Given the description of an element on the screen output the (x, y) to click on. 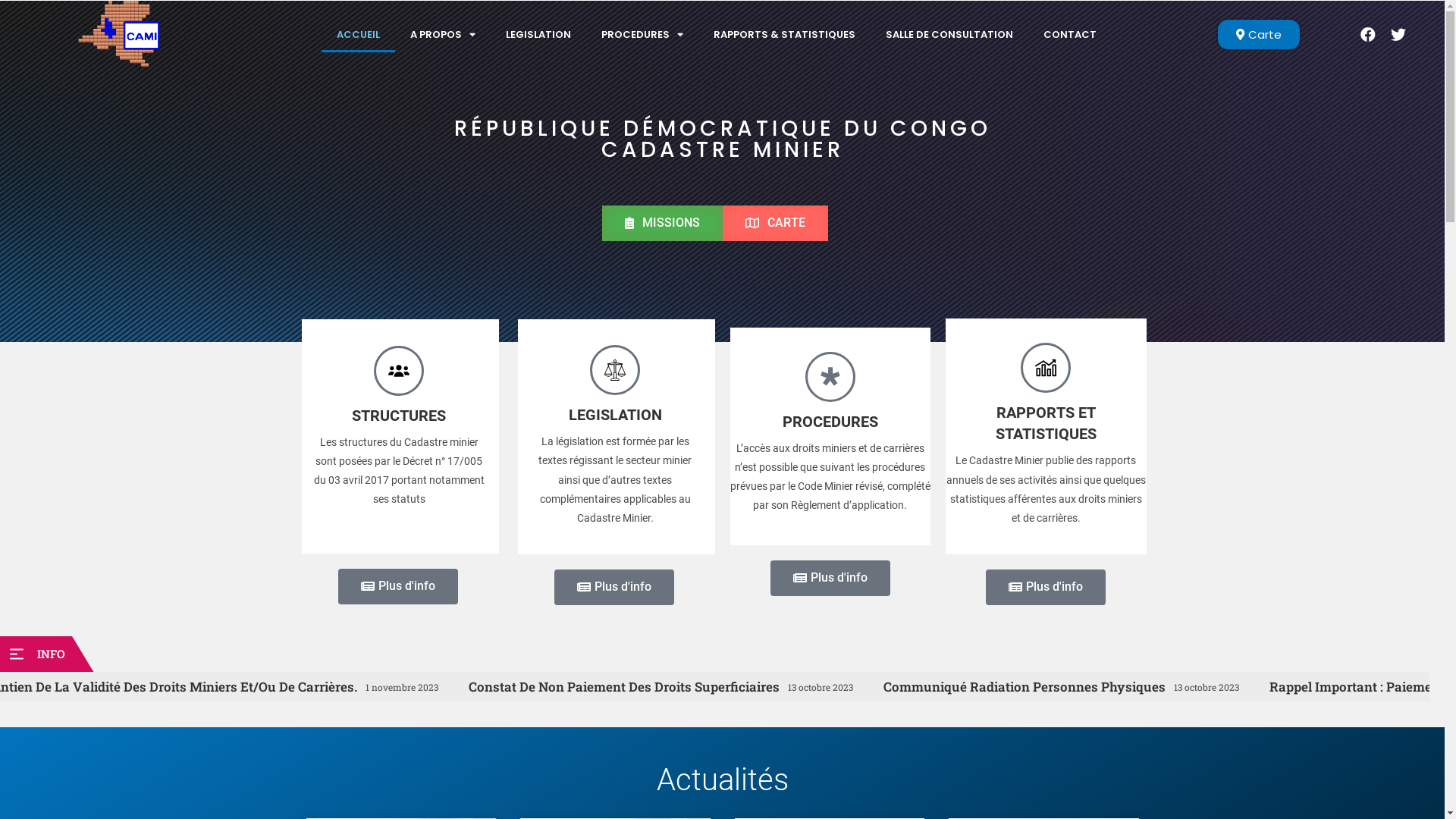
Plus d'info Element type: text (398, 586)
ACCUEIL Element type: text (358, 34)
LEGISLATION Element type: text (615, 414)
SALLE DE CONSULTATION Element type: text (949, 34)
PROCEDURES Element type: text (641, 34)
CARTE Element type: text (774, 222)
PROCEDURES Element type: text (830, 421)
Plus d'info Element type: text (1045, 587)
A PROPOS Element type: text (441, 34)
Plus d'info Element type: text (614, 586)
RAPPORTS ET STATISTIQUES Element type: text (1045, 422)
Constat De Non Paiement Des Droits Superficiaires Element type: text (936, 686)
CONTACT Element type: text (1069, 34)
MISSIONS Element type: text (662, 222)
RAPPORTS & STATISTIQUES Element type: text (783, 34)
Carte Element type: text (1258, 34)
STRUCTURES Element type: text (398, 415)
LEGISLATION Element type: text (537, 34)
Plus d'info Element type: text (830, 578)
